Given the description of an element on the screen output the (x, y) to click on. 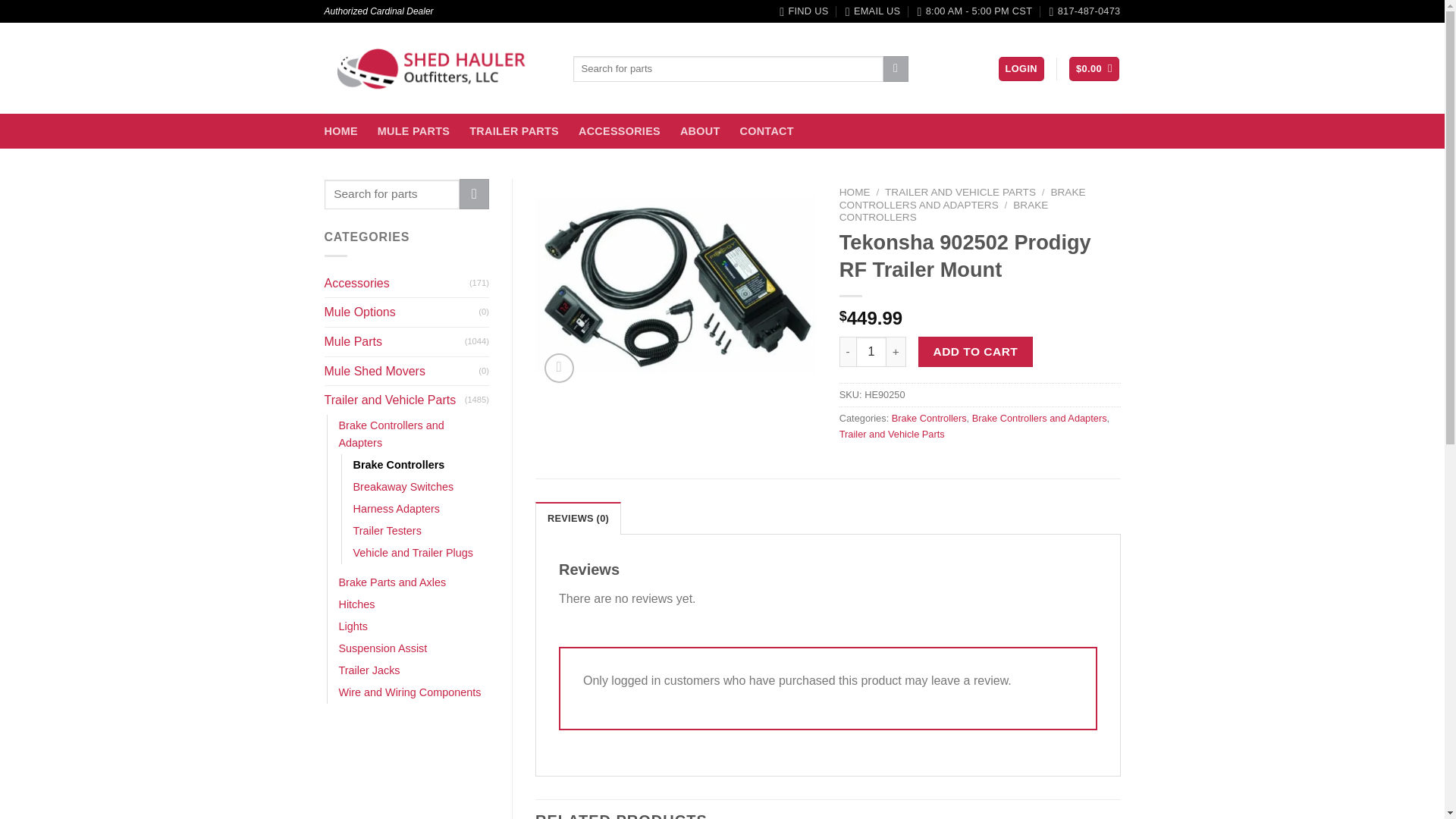
MULE PARTS (413, 130)
ACCESSORIES (619, 130)
817-487-0473 (1085, 11)
LOGIN (1020, 68)
1 (871, 351)
8:00 AM - 5:00 PM CST (974, 11)
EMAIL US (872, 11)
Zoom (558, 367)
CONTACT (766, 130)
Shed Hauler Outfitters, LLC (437, 67)
